Given the description of an element on the screen output the (x, y) to click on. 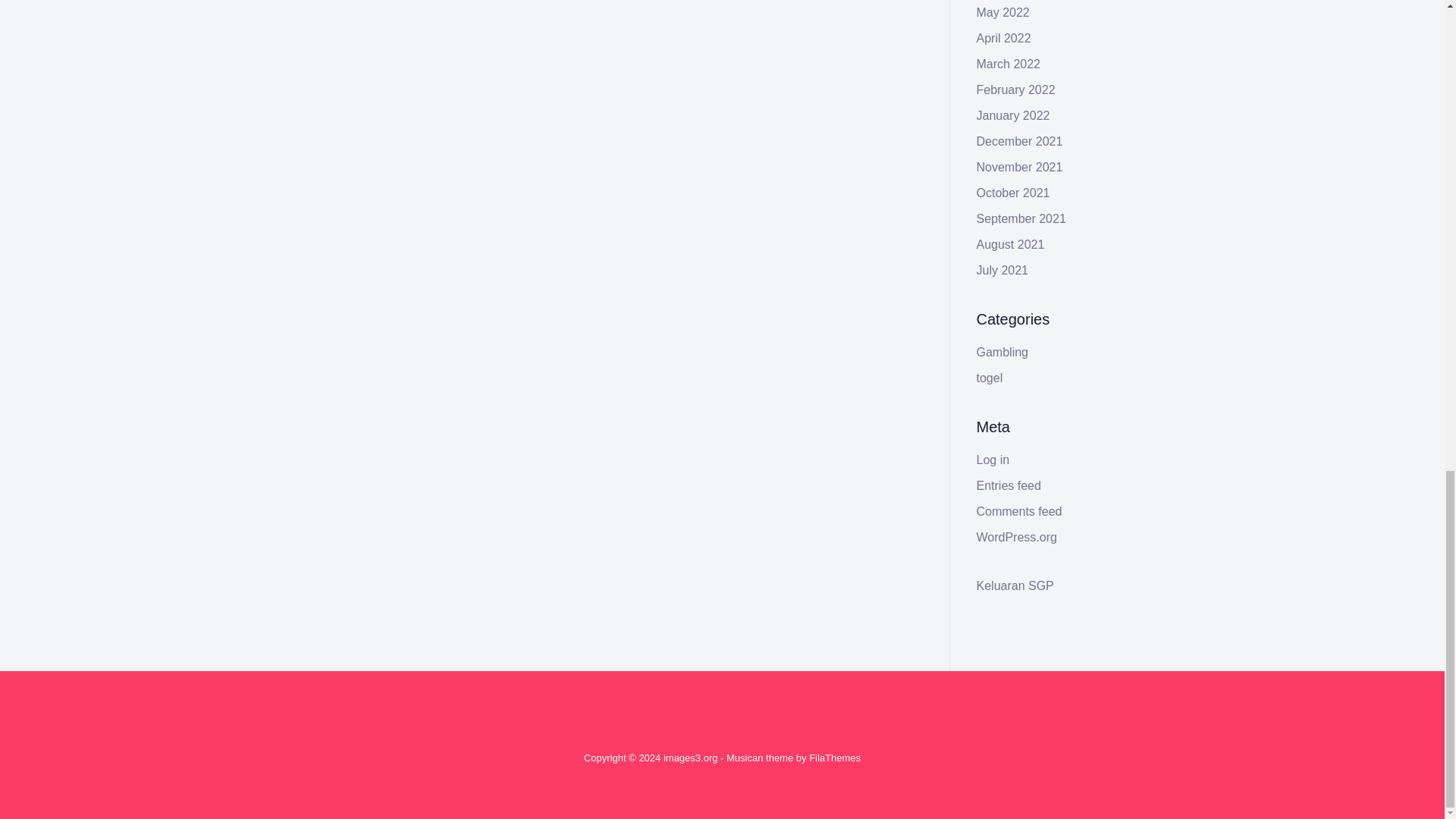
images3.org (690, 757)
